Given the description of an element on the screen output the (x, y) to click on. 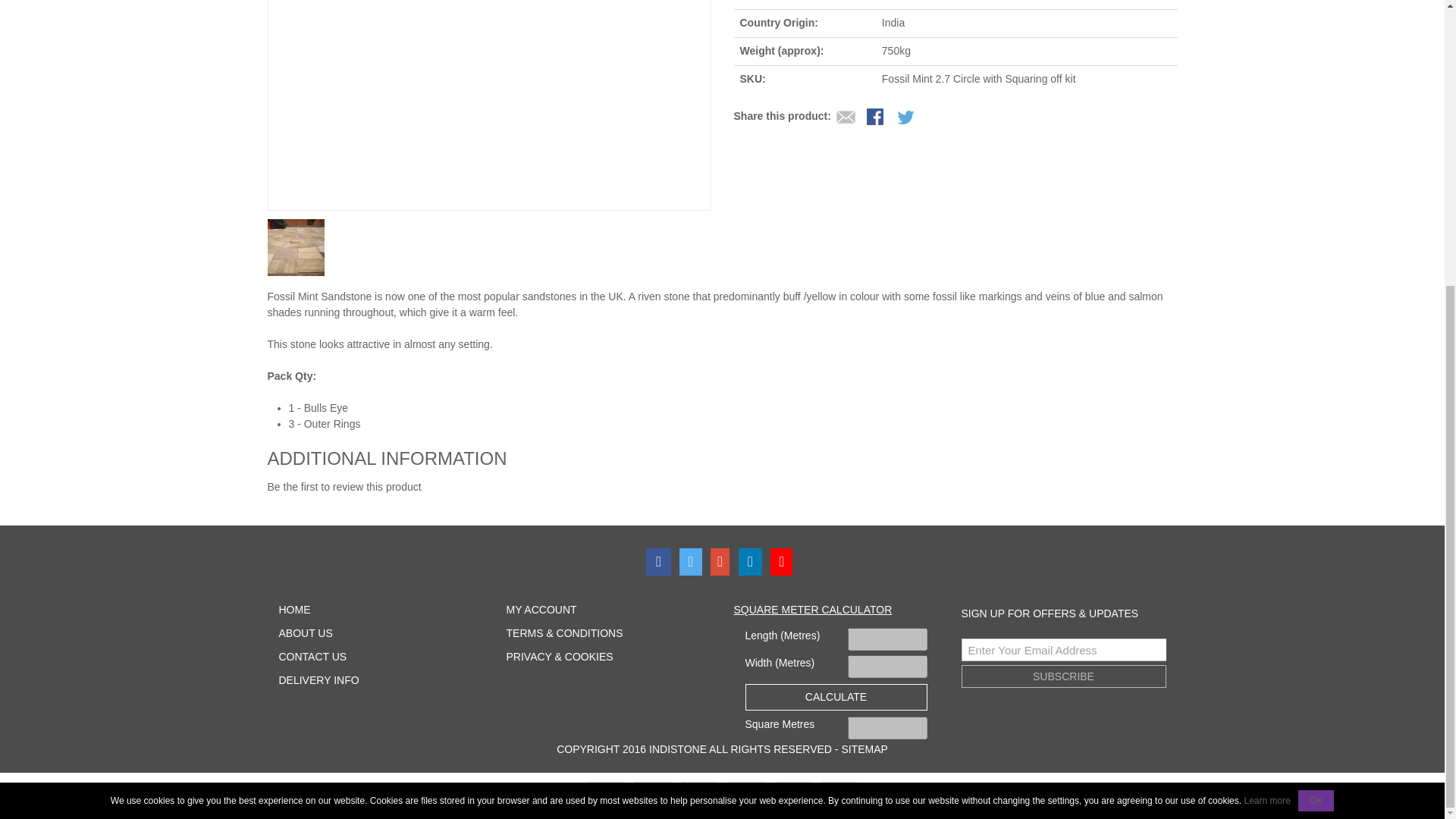
Email to a Friend (845, 117)
Linkedin (753, 561)
Sign up for our newsletter (1063, 649)
Subscribe (1063, 676)
ABOUT US (306, 633)
DELIVERY INFO (319, 680)
Share Facebook (876, 117)
SUBSCRIBE (1063, 676)
CONTACT US (313, 656)
Google Plus (722, 561)
HOME (295, 609)
Share on Twitter (906, 117)
Be the first to review this product (343, 486)
Facebook (661, 561)
Youtube (783, 561)
